Given the description of an element on the screen output the (x, y) to click on. 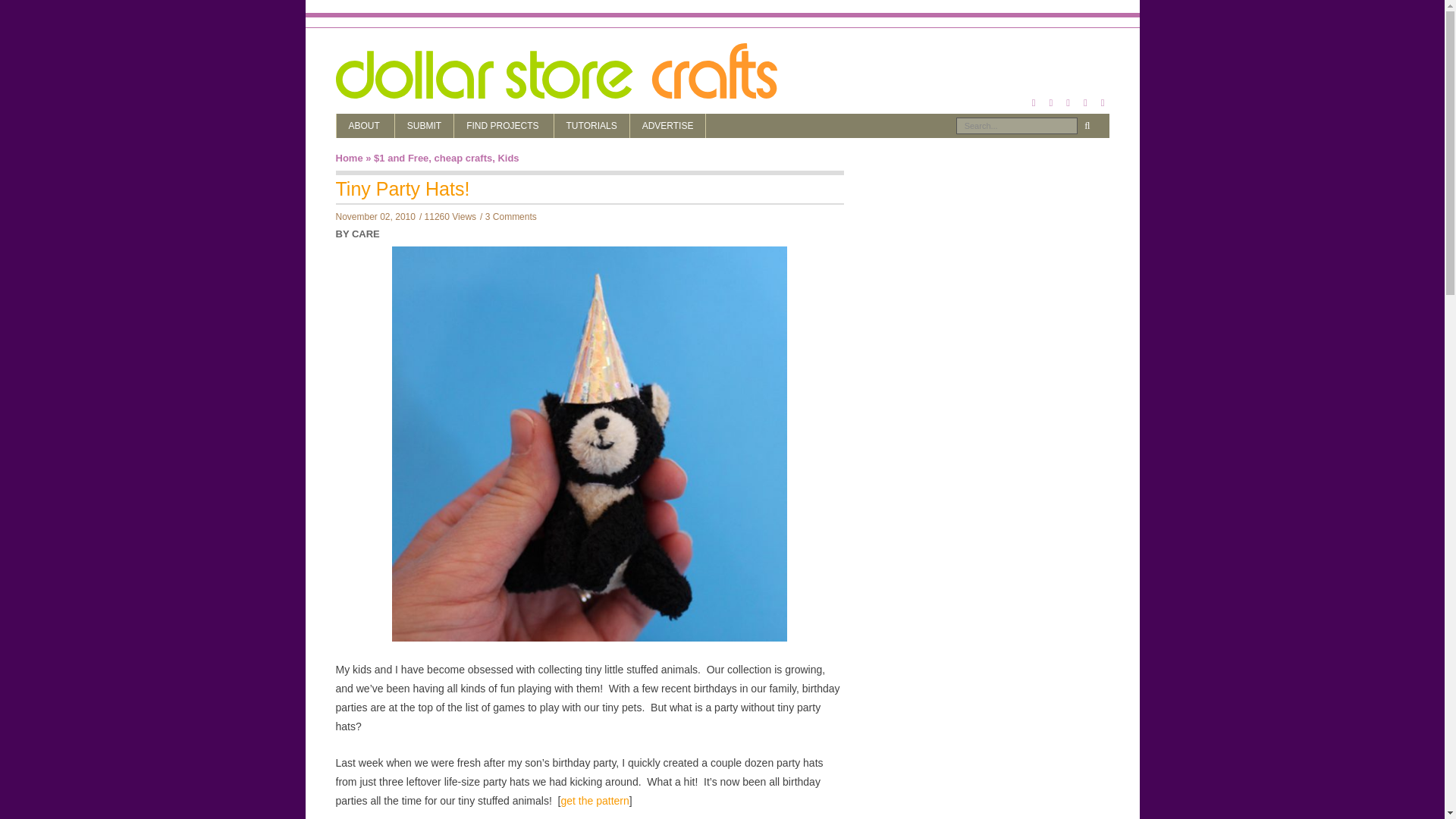
Home (348, 157)
FIND PROJECTS (503, 125)
TUTORIALS (591, 125)
ADVERTISE (668, 125)
ABOUT (365, 125)
SUBMIT (423, 125)
